Given the description of an element on the screen output the (x, y) to click on. 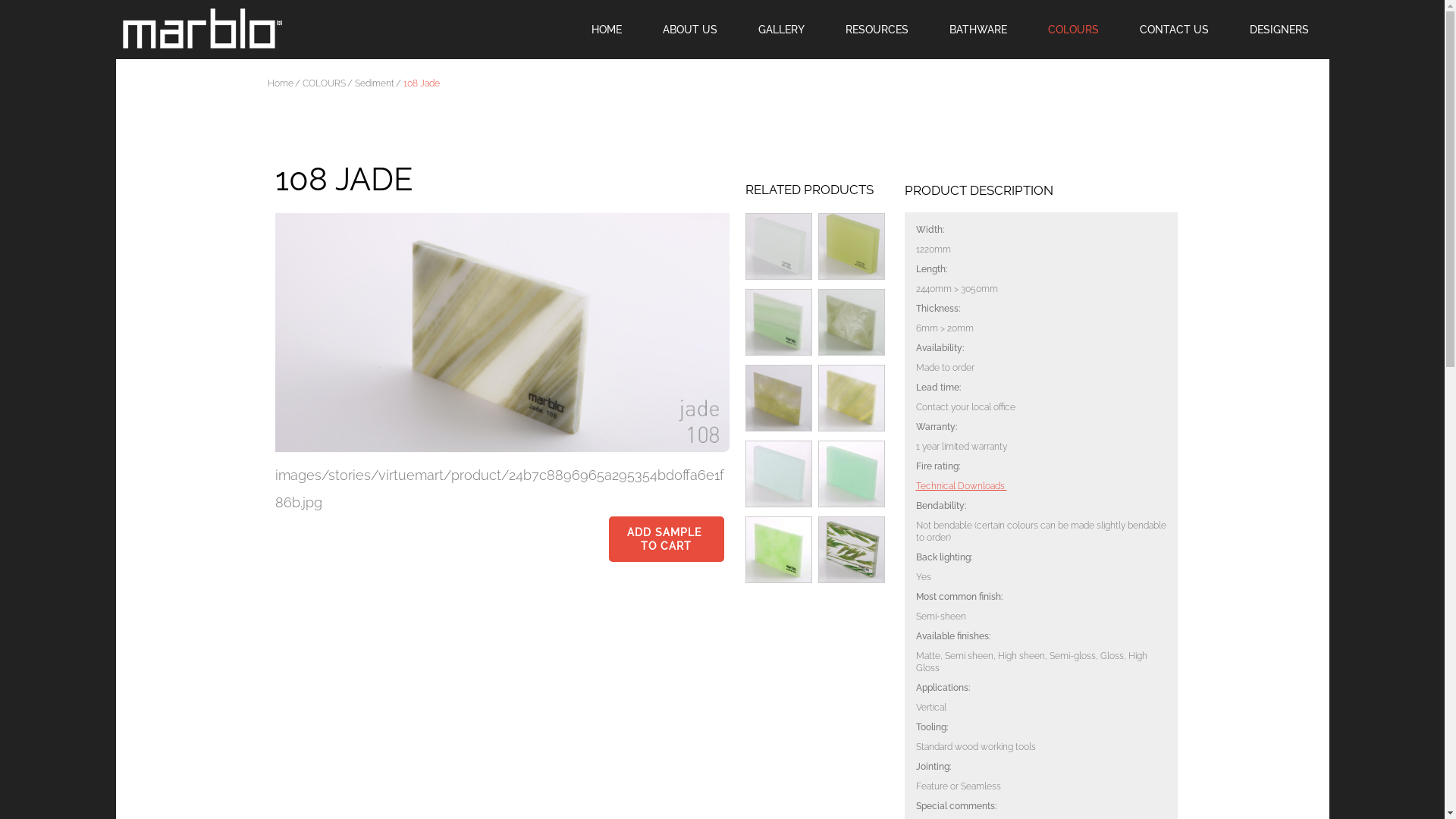
ABOUT US Element type: text (689, 29)
DESIGNERS Element type: text (1278, 29)
Add Sample 
To Cart Element type: text (665, 538)
RESOURCES Element type: text (876, 29)
COLOURS Element type: text (323, 83)
Add Sample 
To Cart Element type: hover (665, 538)
CONTACT US Element type: text (1174, 29)
COLOURS Element type: text (1072, 29)
Technical Downloads  Element type: text (961, 485)
GALLERY Element type: text (780, 29)
Sediment Element type: text (374, 83)
HOME Element type: text (605, 29)
Home Element type: text (279, 83)
BATHWARE Element type: text (977, 29)
